Given the description of an element on the screen output the (x, y) to click on. 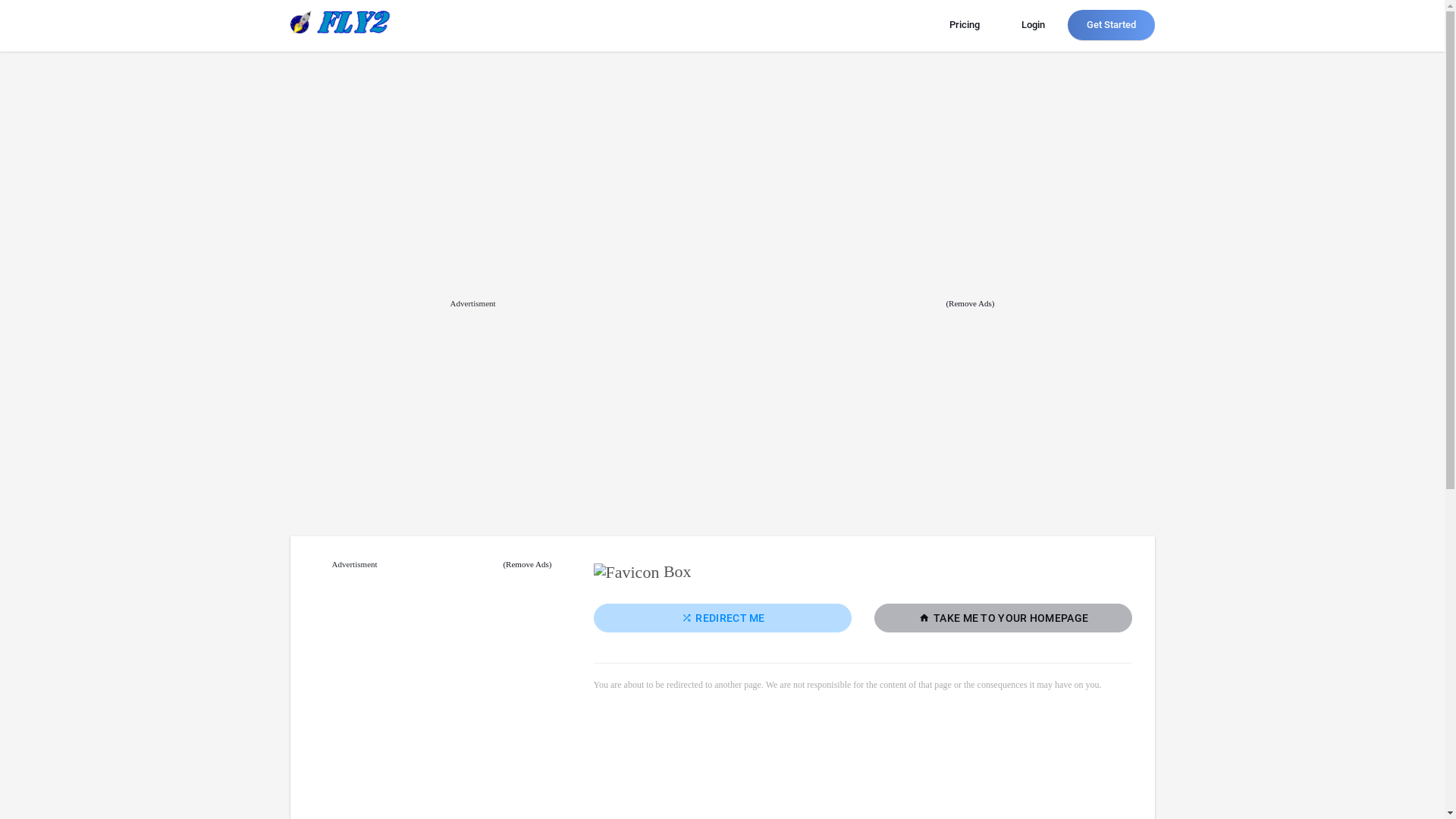
REDIRECT ME Element type: text (721, 617)
(Remove Ads) Element type: text (526, 564)
Login Element type: text (1032, 24)
(Remove Ads) Element type: text (969, 303)
Pricing Element type: text (963, 24)
TAKE ME TO YOUR HOMEPAGE Element type: text (1002, 617)
Get Started Element type: text (1110, 24)
